Given the description of an element on the screen output the (x, y) to click on. 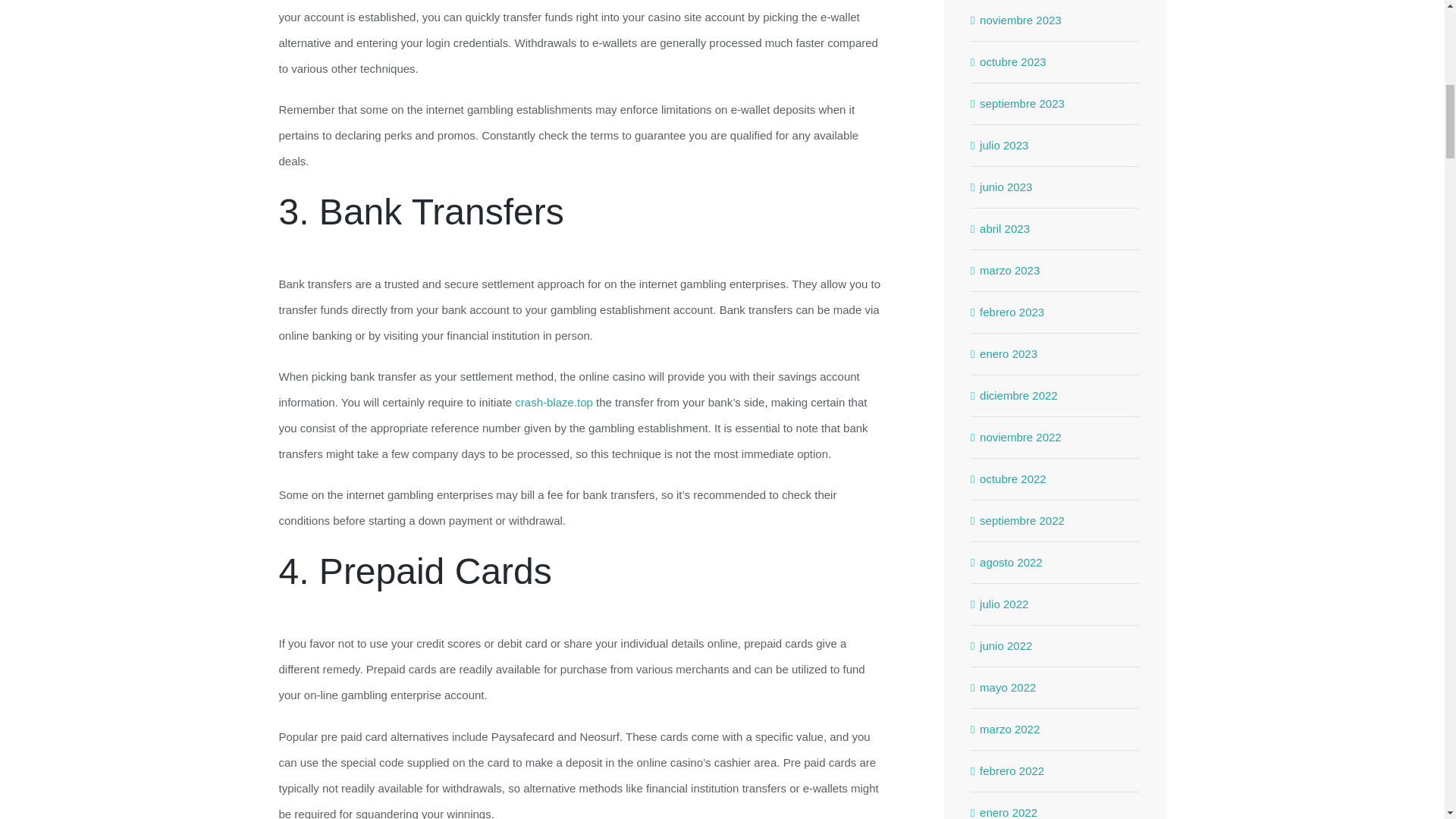
crash-blaze.top (553, 401)
